Given the description of an element on the screen output the (x, y) to click on. 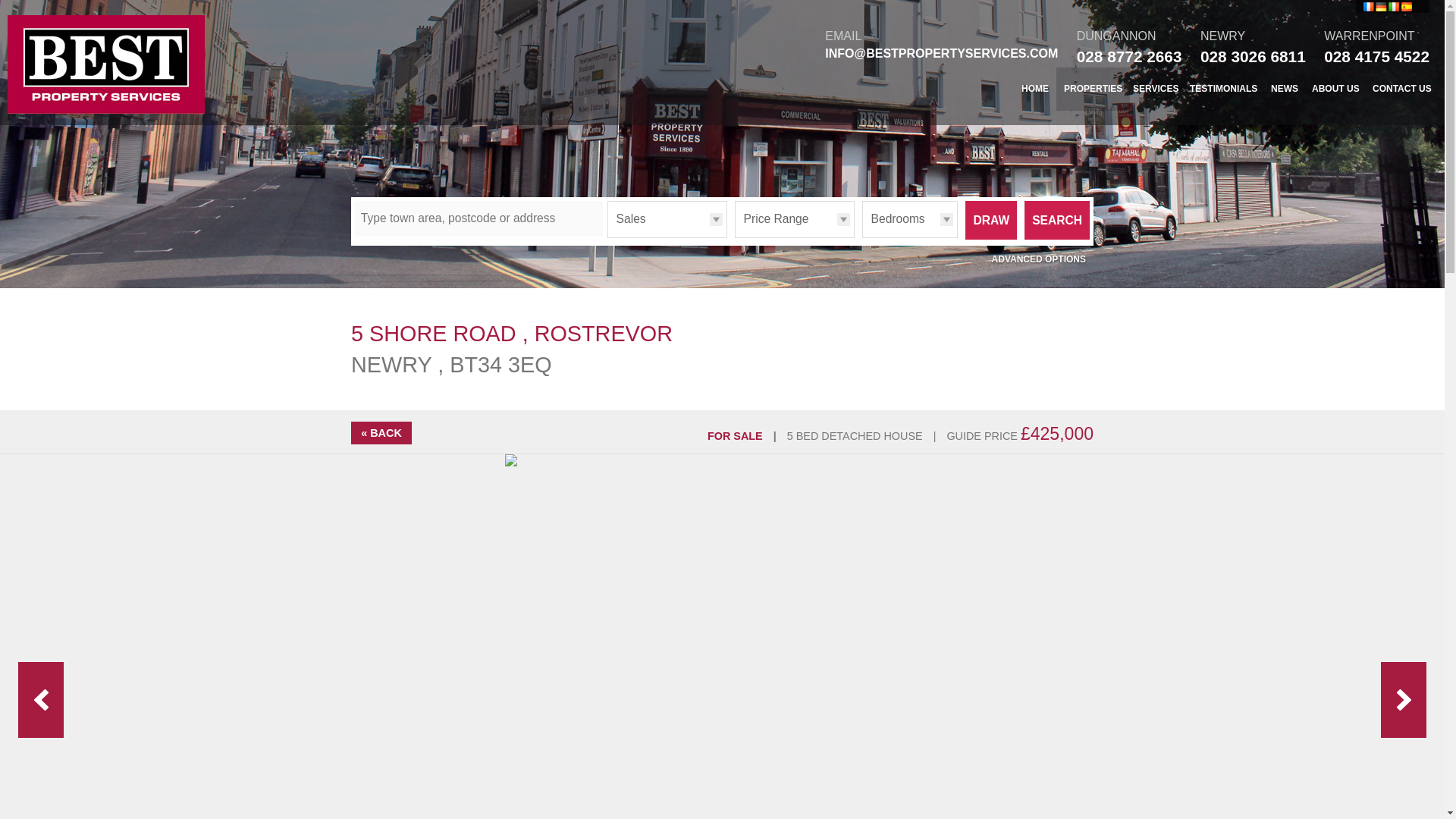
028 8772 2663 (1129, 56)
028 4175 4522 (1376, 56)
TESTIMONIALS (1223, 88)
NEWS (1284, 88)
SERVICES (1155, 88)
CONTACT US (1402, 88)
028 3026 6811 (1252, 56)
HOME (1035, 88)
draw (990, 219)
